Given the description of an element on the screen output the (x, y) to click on. 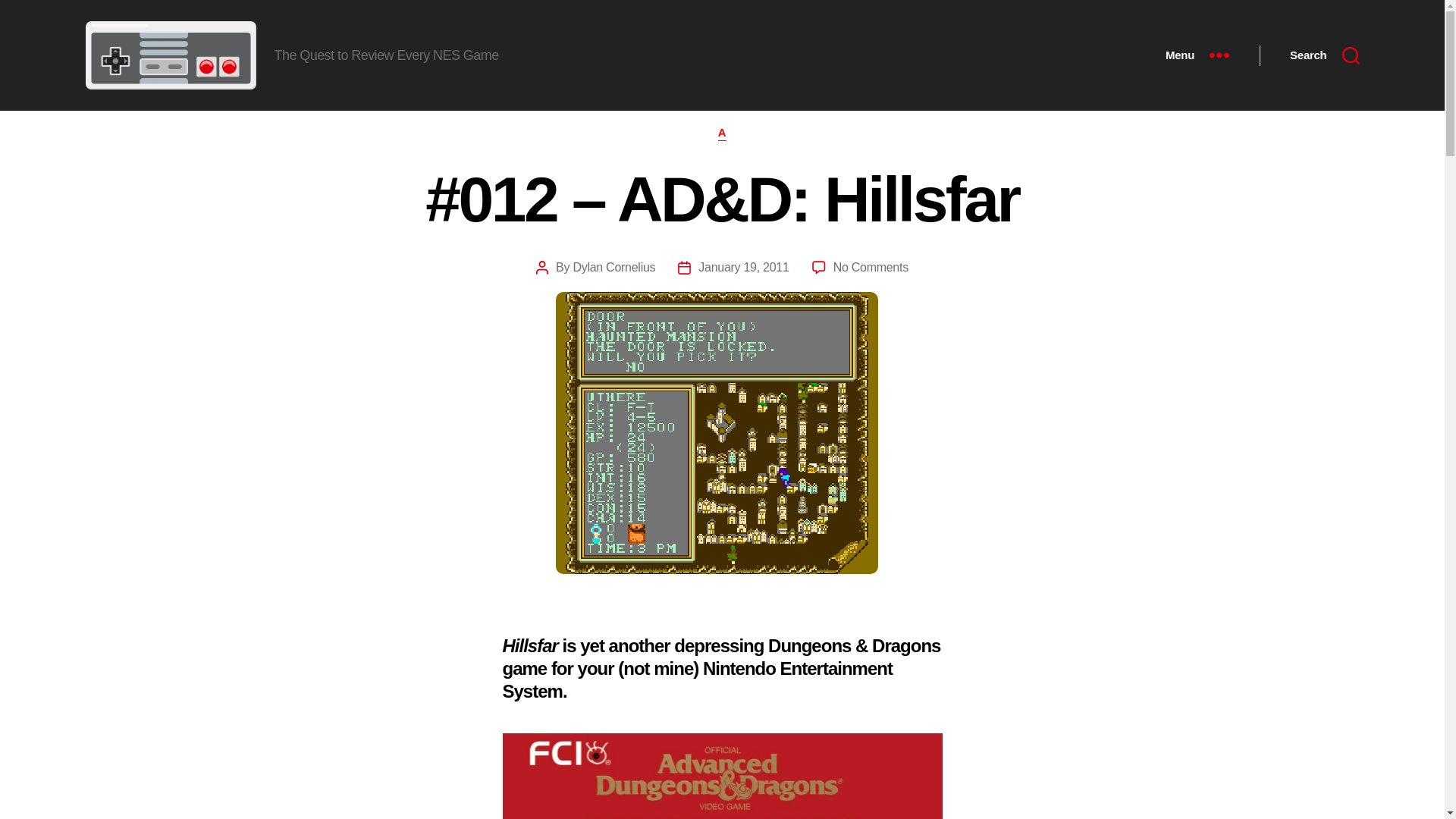
Dylan Cornelius (613, 267)
No Comments (870, 267)
Search (1324, 55)
Menu (1197, 55)
January 19, 2011 (743, 267)
